Given the description of an element on the screen output the (x, y) to click on. 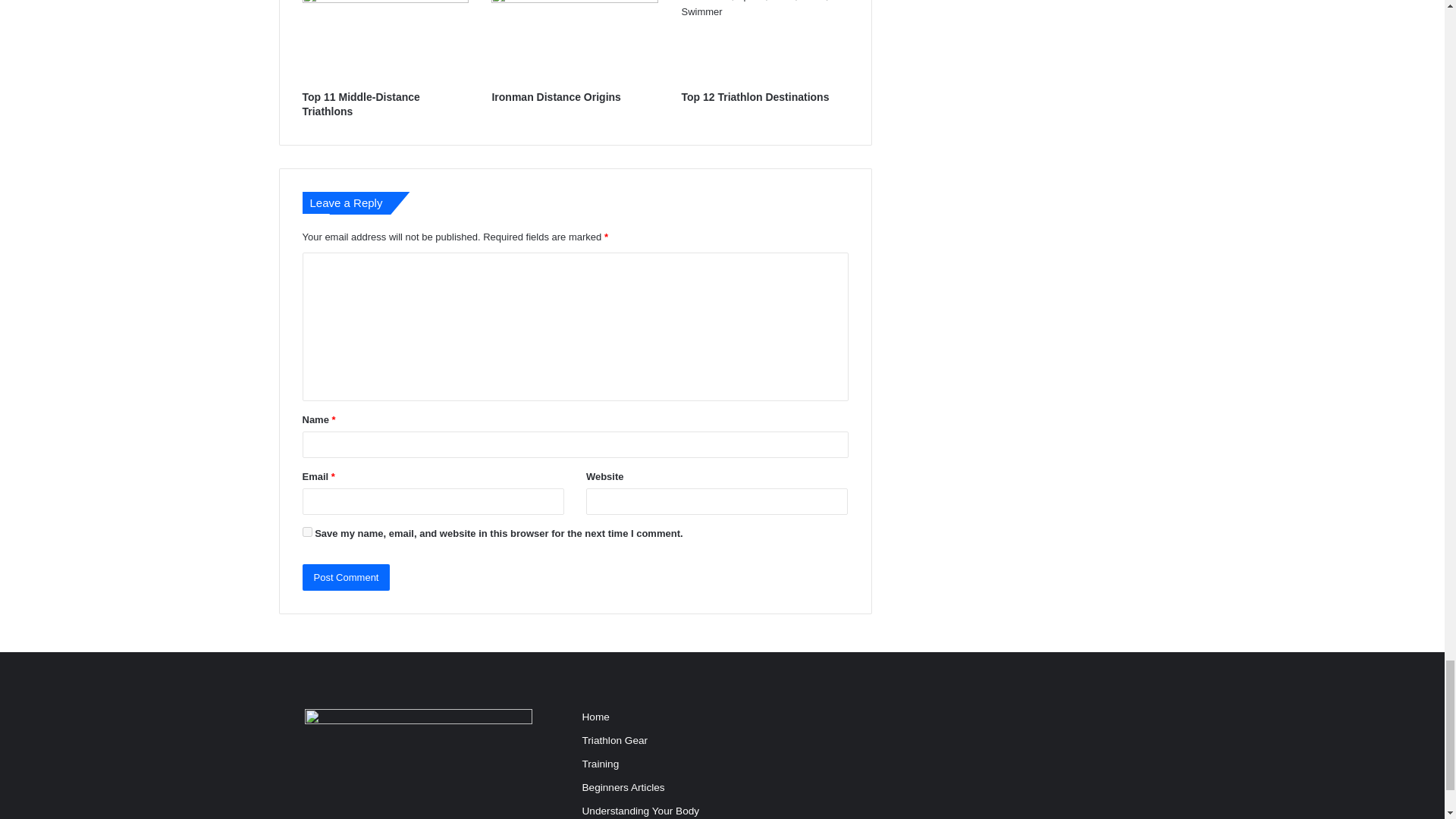
Post Comment (345, 577)
yes (306, 532)
